Given the description of an element on the screen output the (x, y) to click on. 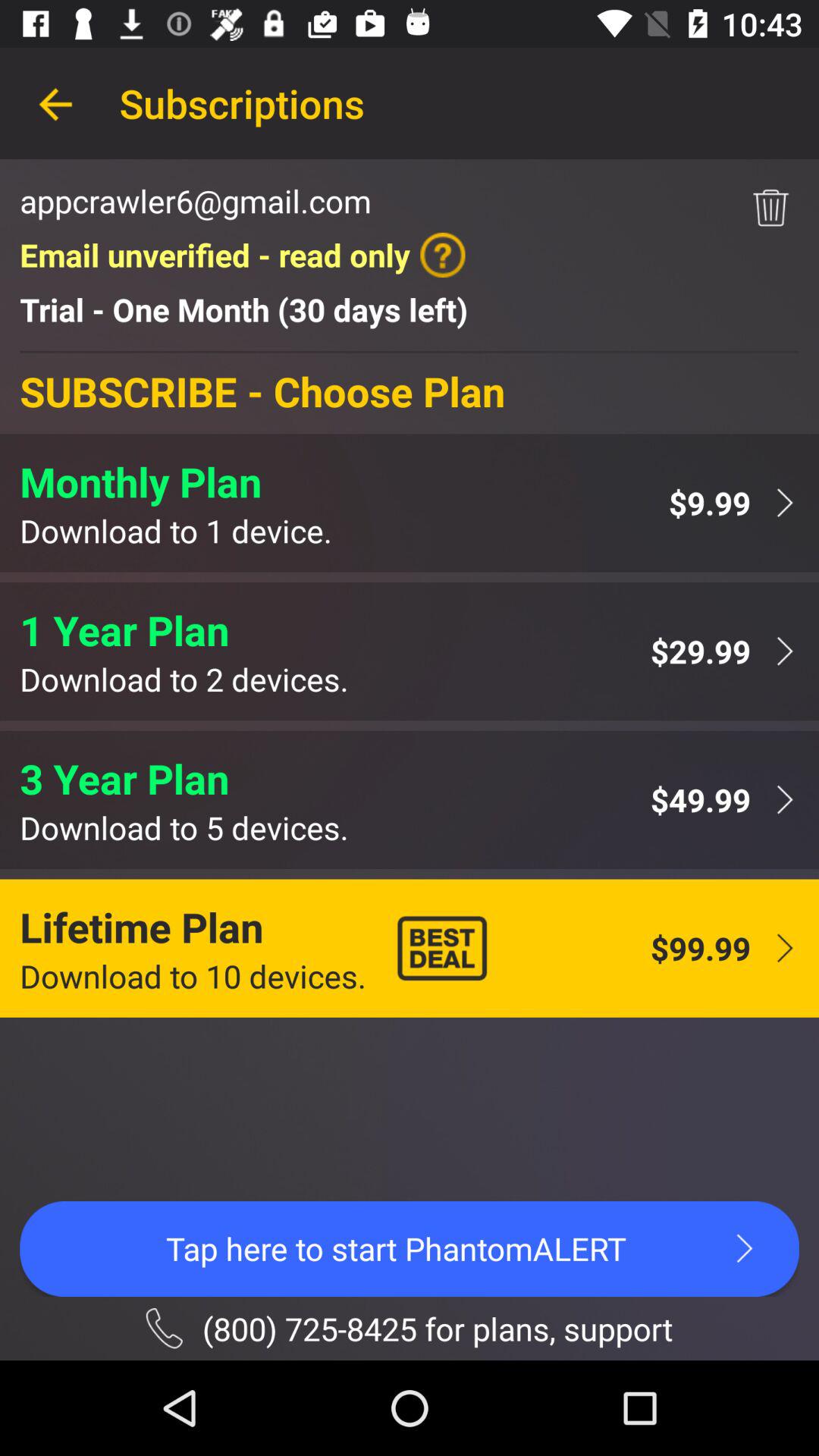
select item at the top right corner (770, 207)
